Given the description of an element on the screen output the (x, y) to click on. 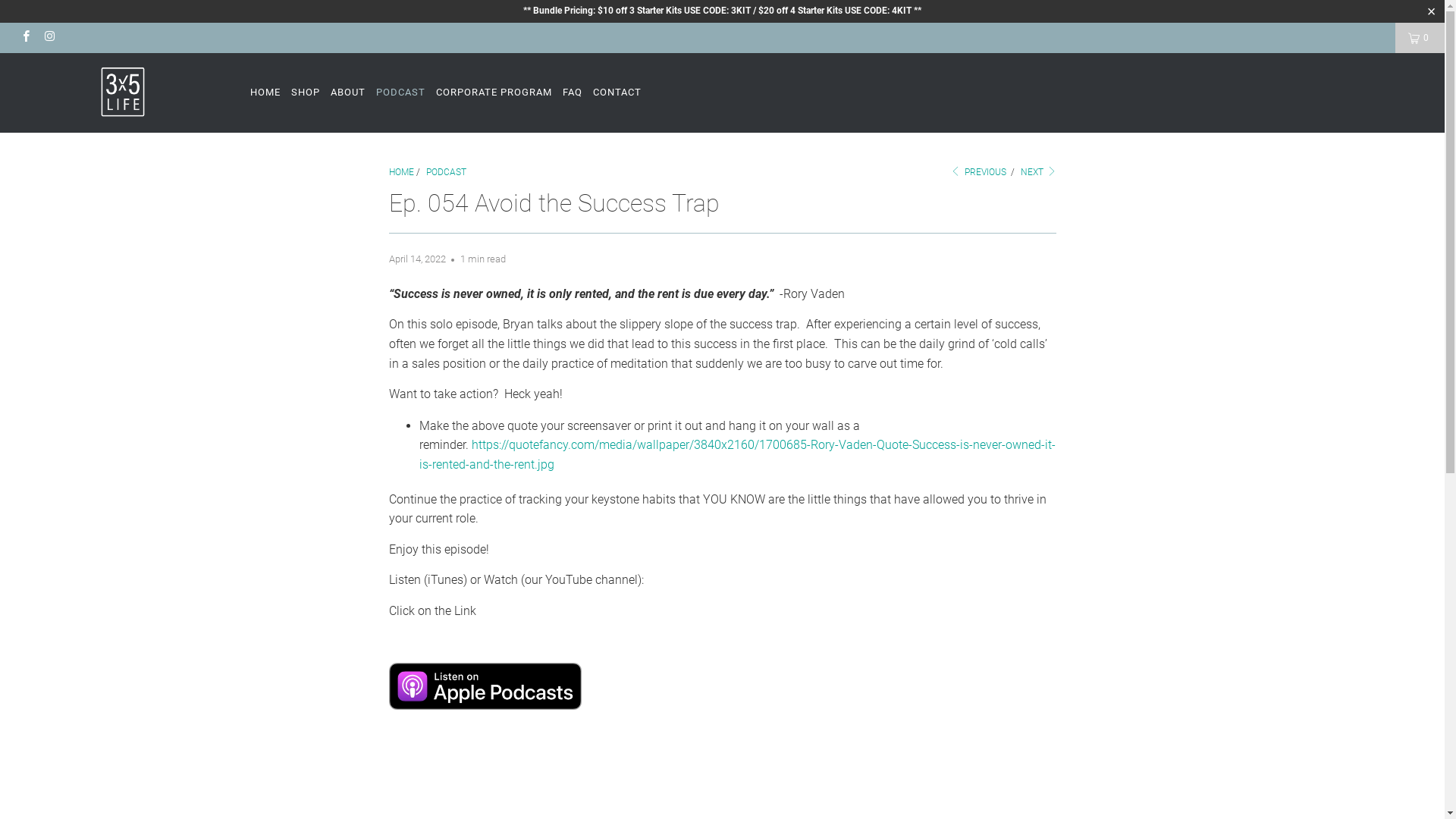
CONTACT Element type: text (617, 92)
0 Element type: text (1419, 37)
FAQ Element type: text (572, 92)
NEXT Element type: text (1038, 171)
CORPORATE PROGRAM Element type: text (494, 92)
ABOUT Element type: text (347, 92)
SHOP Element type: text (305, 92)
PREVIOUS Element type: text (978, 171)
HOME Element type: text (265, 92)
3x5 Life on Instagram Element type: hover (48, 37)
HOME Element type: text (400, 171)
PODCAST Element type: text (446, 171)
PODCAST Element type: text (400, 92)
3x5 Life on Facebook Element type: hover (24, 37)
3x5 Life Element type: hover (123, 91)
